Given the description of an element on the screen output the (x, y) to click on. 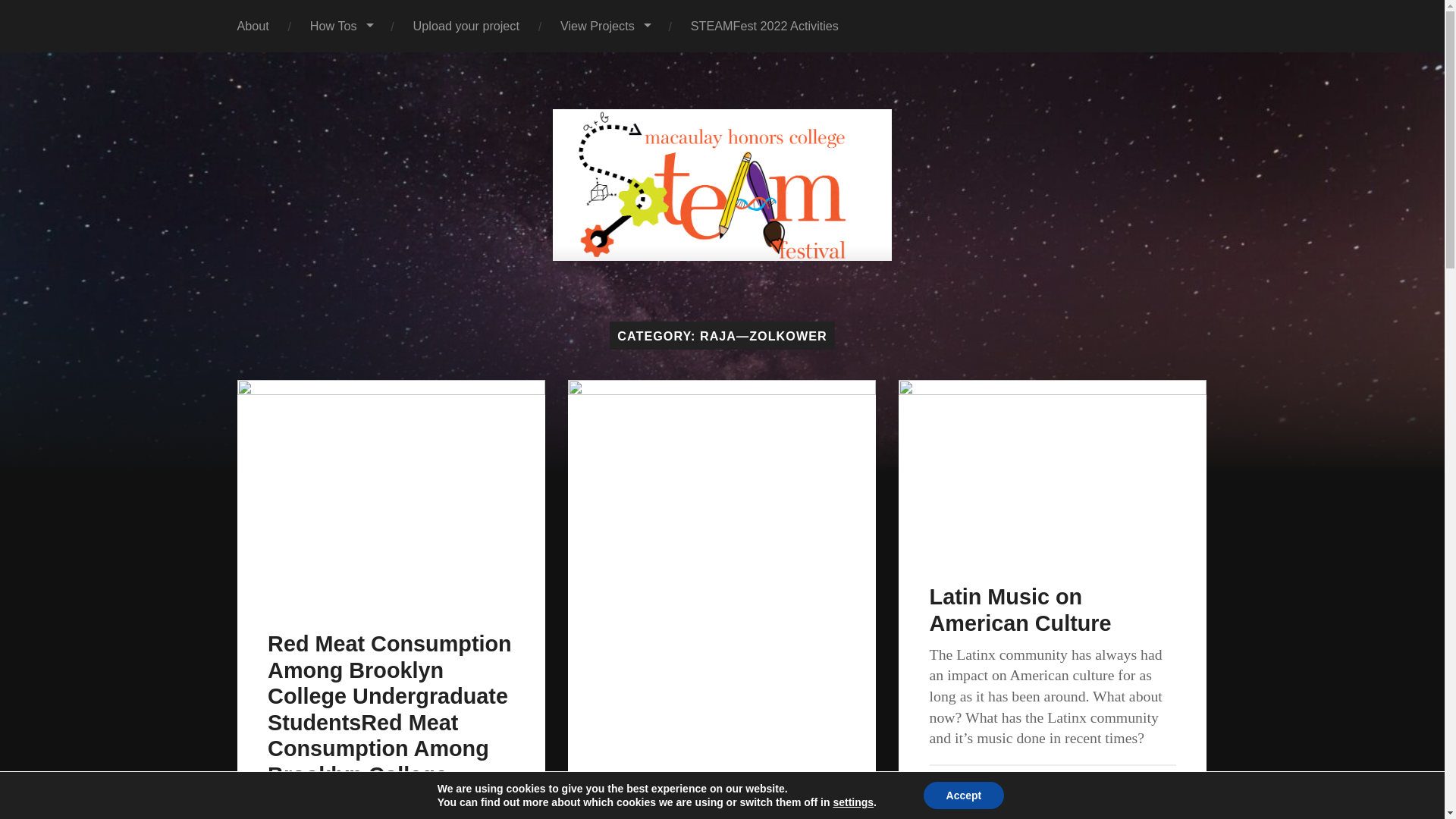
View Projects (604, 26)
How Tos (341, 26)
Upload your project (466, 26)
About (252, 26)
